Given the description of an element on the screen output the (x, y) to click on. 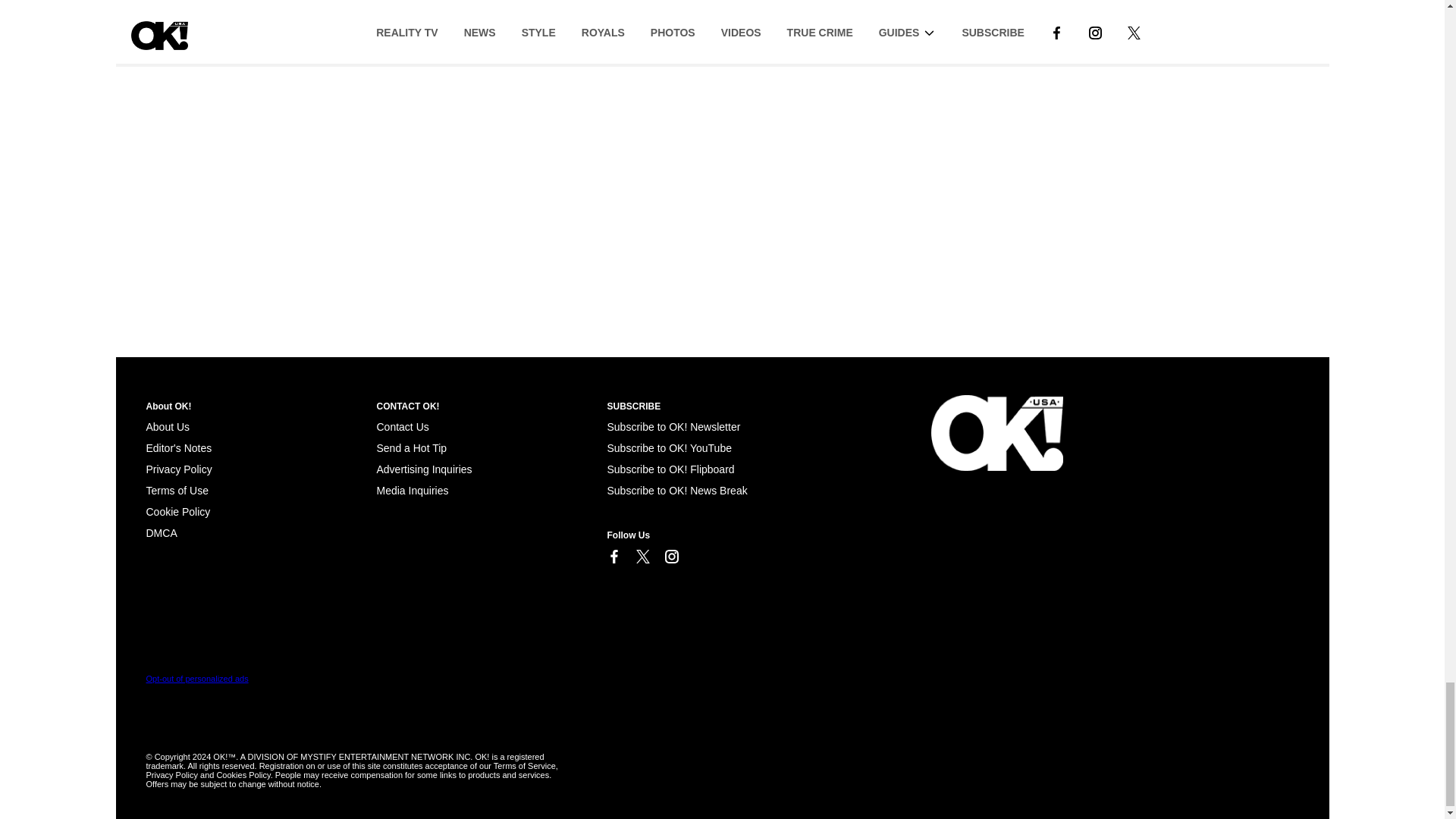
Cookie Policy (177, 511)
Editor's Notes (178, 448)
Link to Facebook (613, 556)
Link to X (641, 556)
About Us (167, 426)
Privacy Policy (178, 469)
Terms of Use (176, 490)
Link to Instagram (670, 556)
Cookie Policy (160, 532)
